Given the description of an element on the screen output the (x, y) to click on. 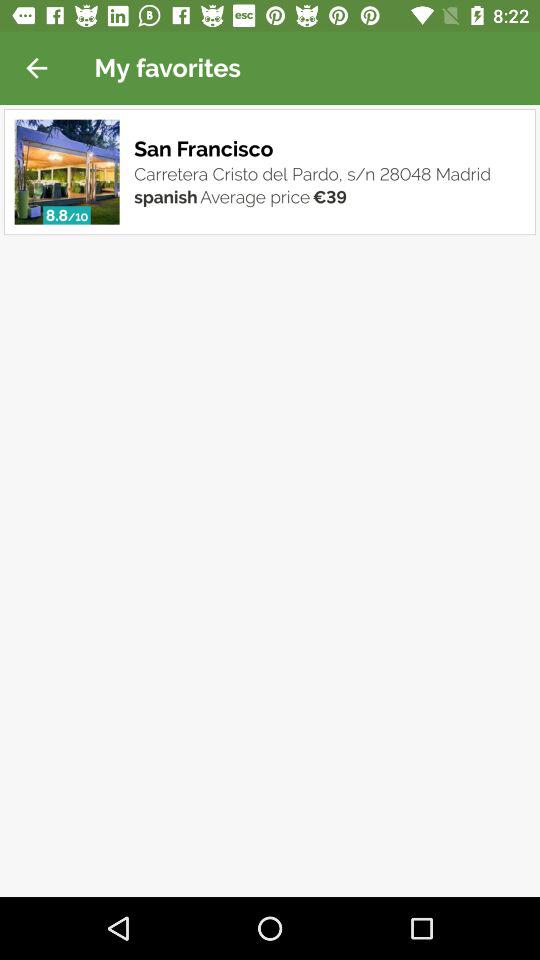
turn on spanish icon (165, 195)
